Given the description of an element on the screen output the (x, y) to click on. 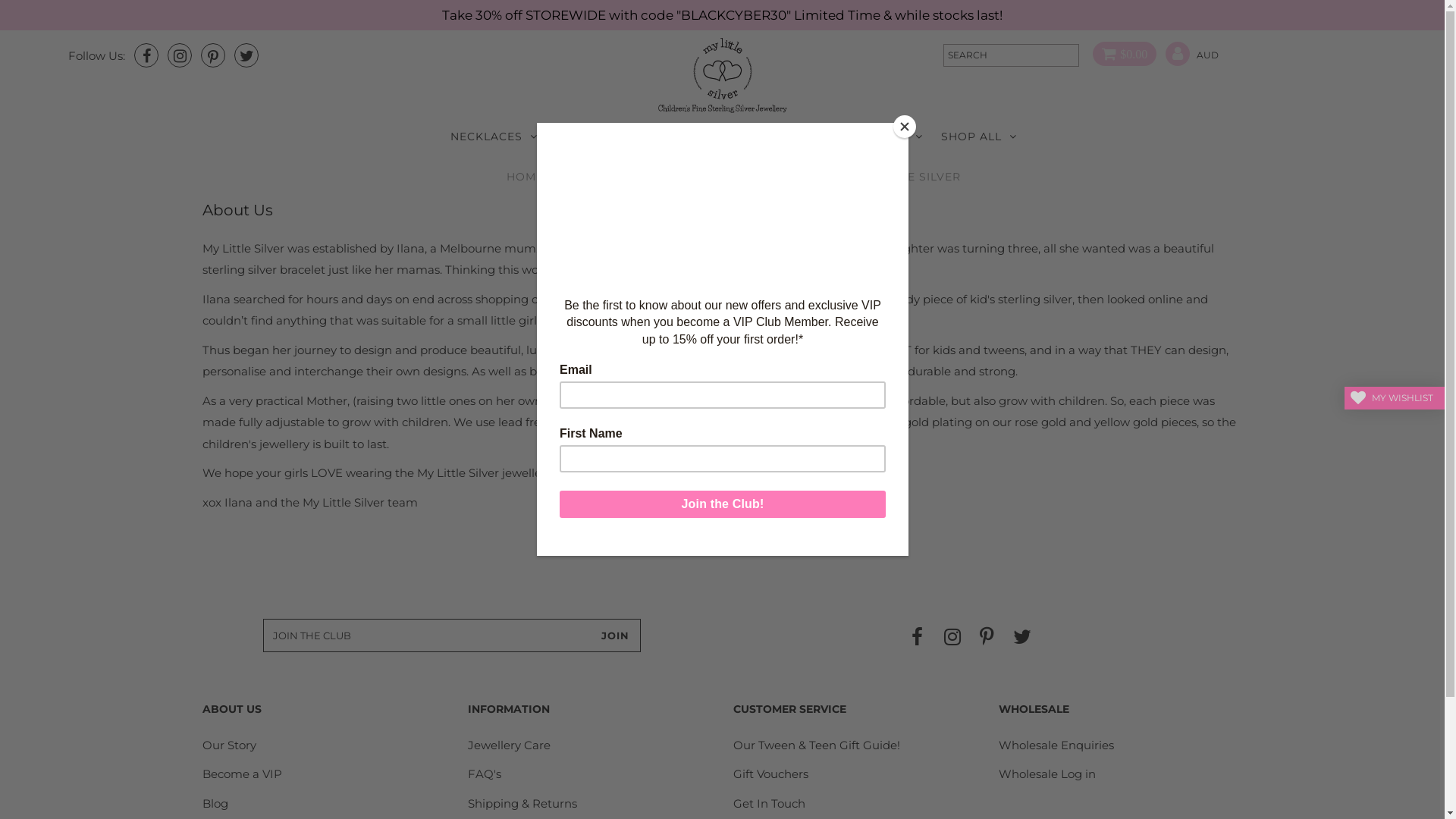
Jewellery Care Element type: text (508, 744)
SHOP ALL Element type: text (978, 136)
Become a VIP Element type: text (242, 773)
Wholesale Log in Element type: text (1046, 773)
PENDANTS Element type: text (881, 136)
EARRINGS Element type: text (594, 136)
Our Story Element type: text (229, 744)
HOME Element type: text (524, 176)
Shipping & Returns Element type: text (522, 803)
Wholesale Enquiries Element type: text (1055, 744)
Gift Vouchers Element type: text (770, 773)
Blog Element type: text (215, 803)
Join Element type: text (614, 635)
MY WISHLIST Element type: text (1394, 397)
Our Tween & Teen Gift Guide! Element type: text (816, 744)
CHARMS Element type: text (788, 136)
NECKLACES Element type: text (493, 136)
  $0.00 Element type: text (1119, 54)
FAQ's Element type: text (484, 773)
BRACELETS Element type: text (693, 136)
Get In Touch Element type: text (769, 803)
